Given the description of an element on the screen output the (x, y) to click on. 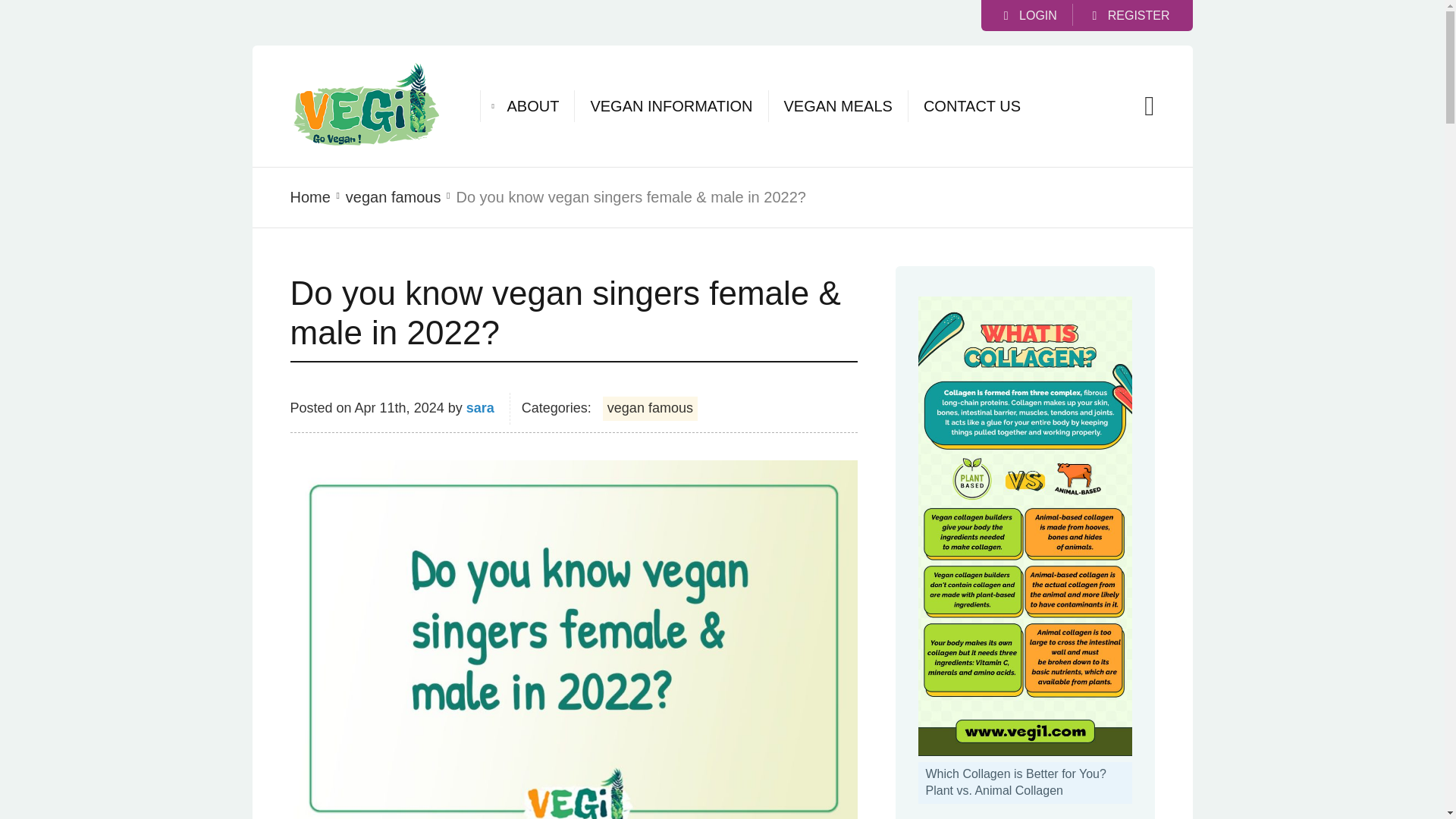
Home (309, 197)
CONTACT US (971, 106)
View all posts in vegan famous (393, 197)
sara (480, 407)
REGISTER (1130, 15)
ABOUT (532, 106)
VEGAN INFORMATION (670, 106)
vegan famous (649, 408)
vegan famous (393, 197)
VEGAN MEALS (838, 106)
